Given the description of an element on the screen output the (x, y) to click on. 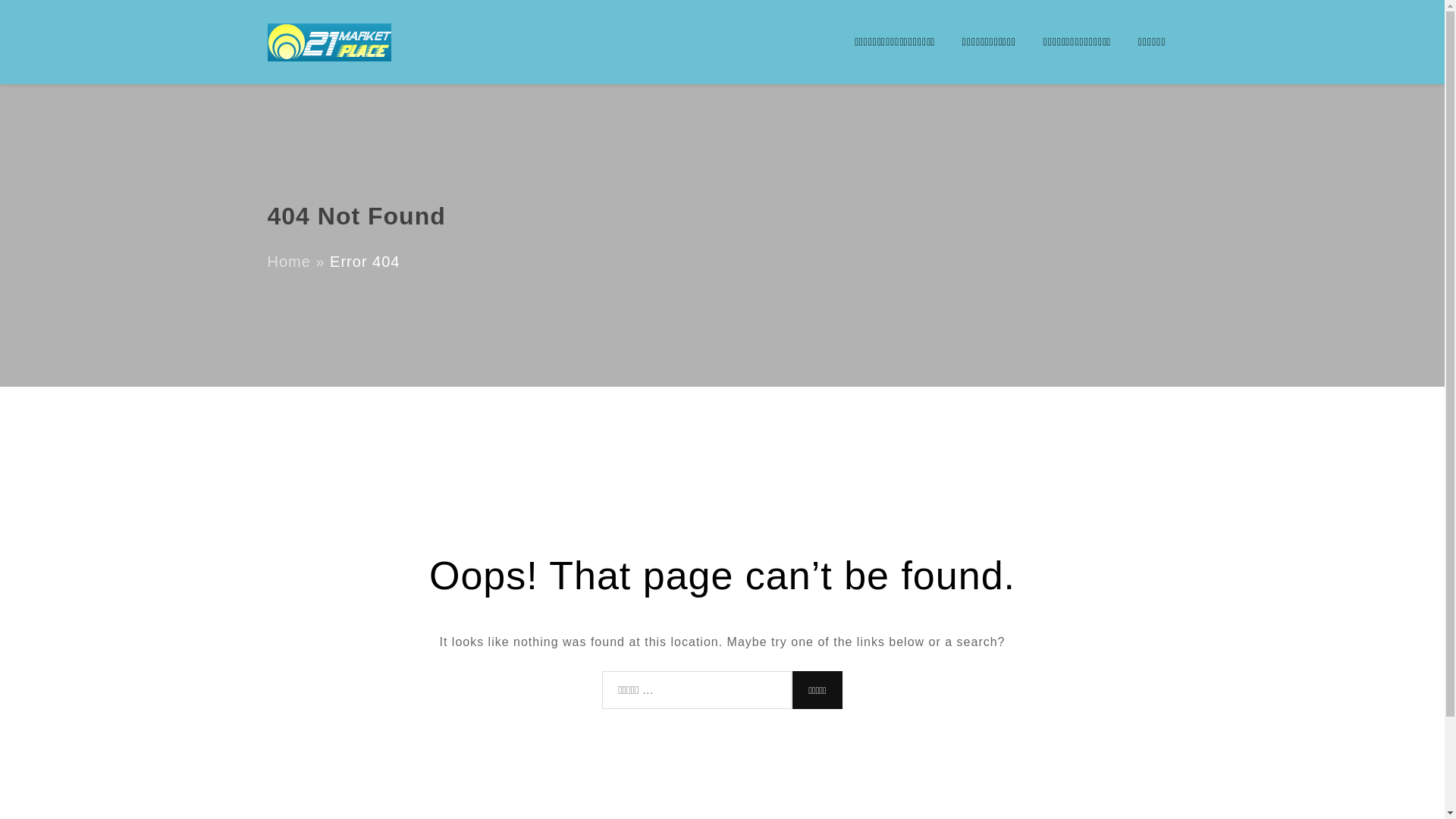
Home Element type: text (288, 261)
21Marketplace Element type: text (443, 49)
